Given the description of an element on the screen output the (x, y) to click on. 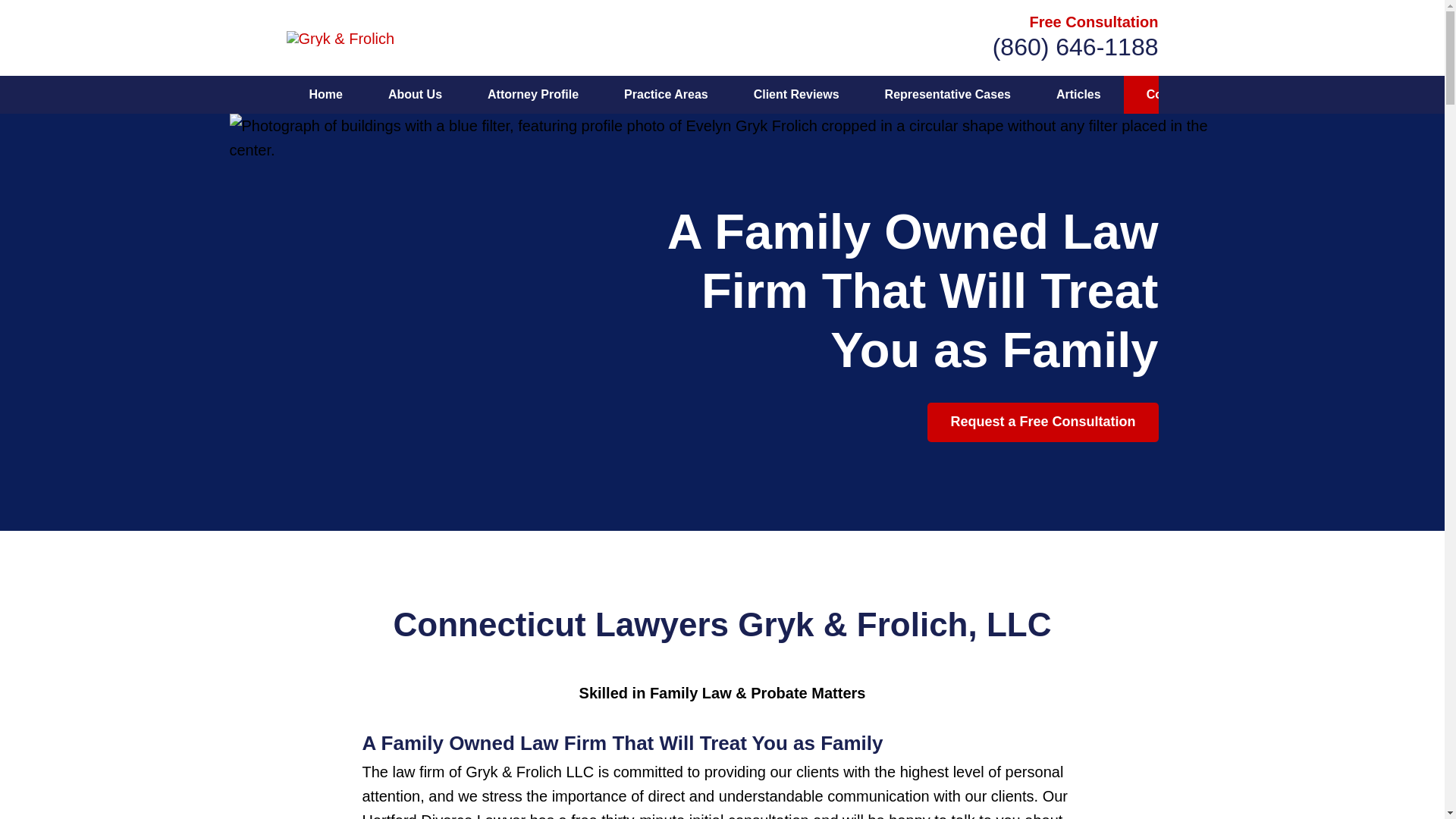
Attorney Profile (532, 94)
Home (325, 94)
Articles (1078, 94)
Client Reviews (795, 94)
About Us (414, 94)
Contact Us (1178, 94)
Representative Cases (947, 94)
Practice Areas (665, 94)
Free Consultation (1093, 21)
Request a Free Consultation (1042, 422)
